Given the description of an element on the screen output the (x, y) to click on. 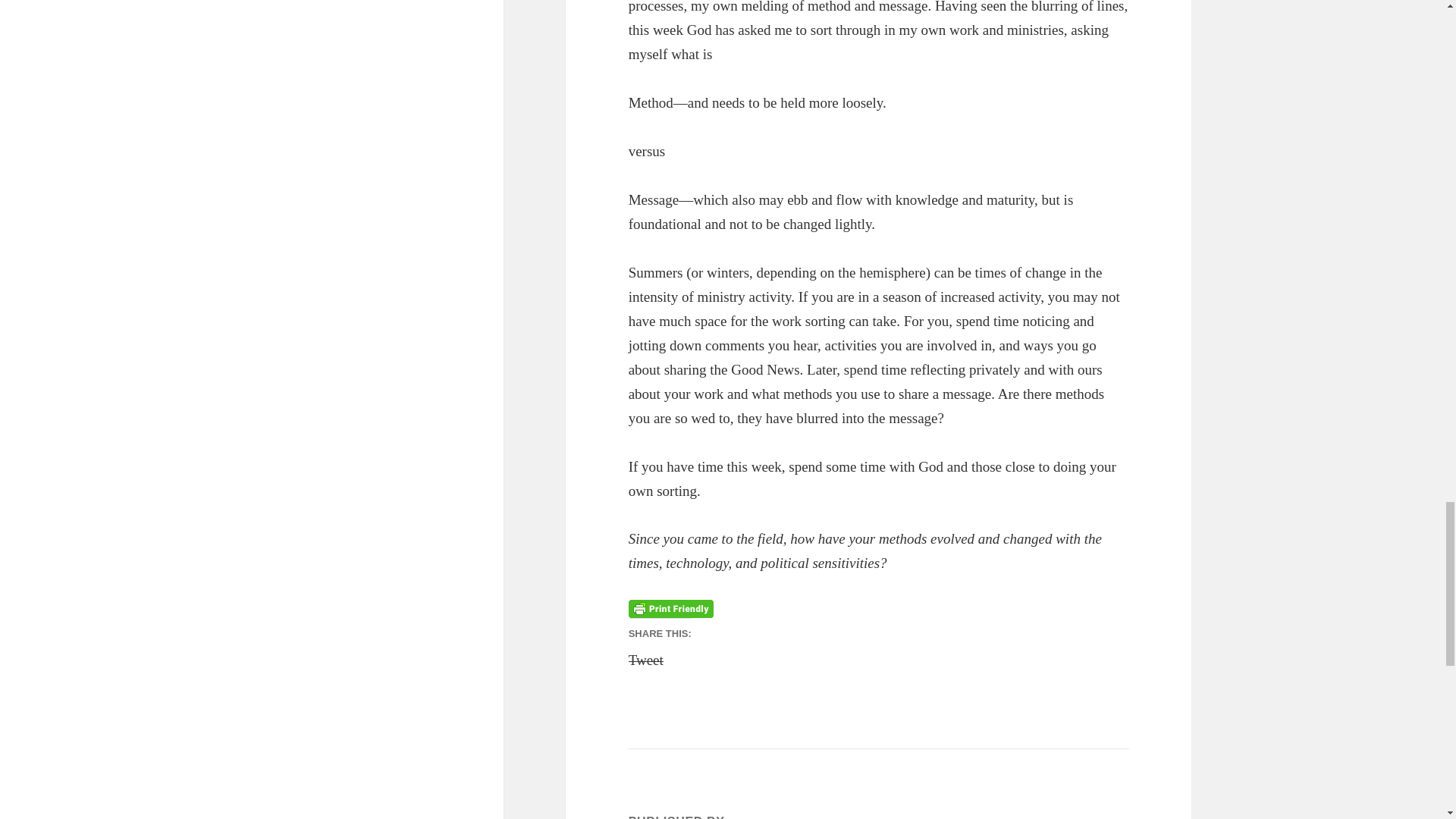
Tweet (645, 654)
